Given the description of an element on the screen output the (x, y) to click on. 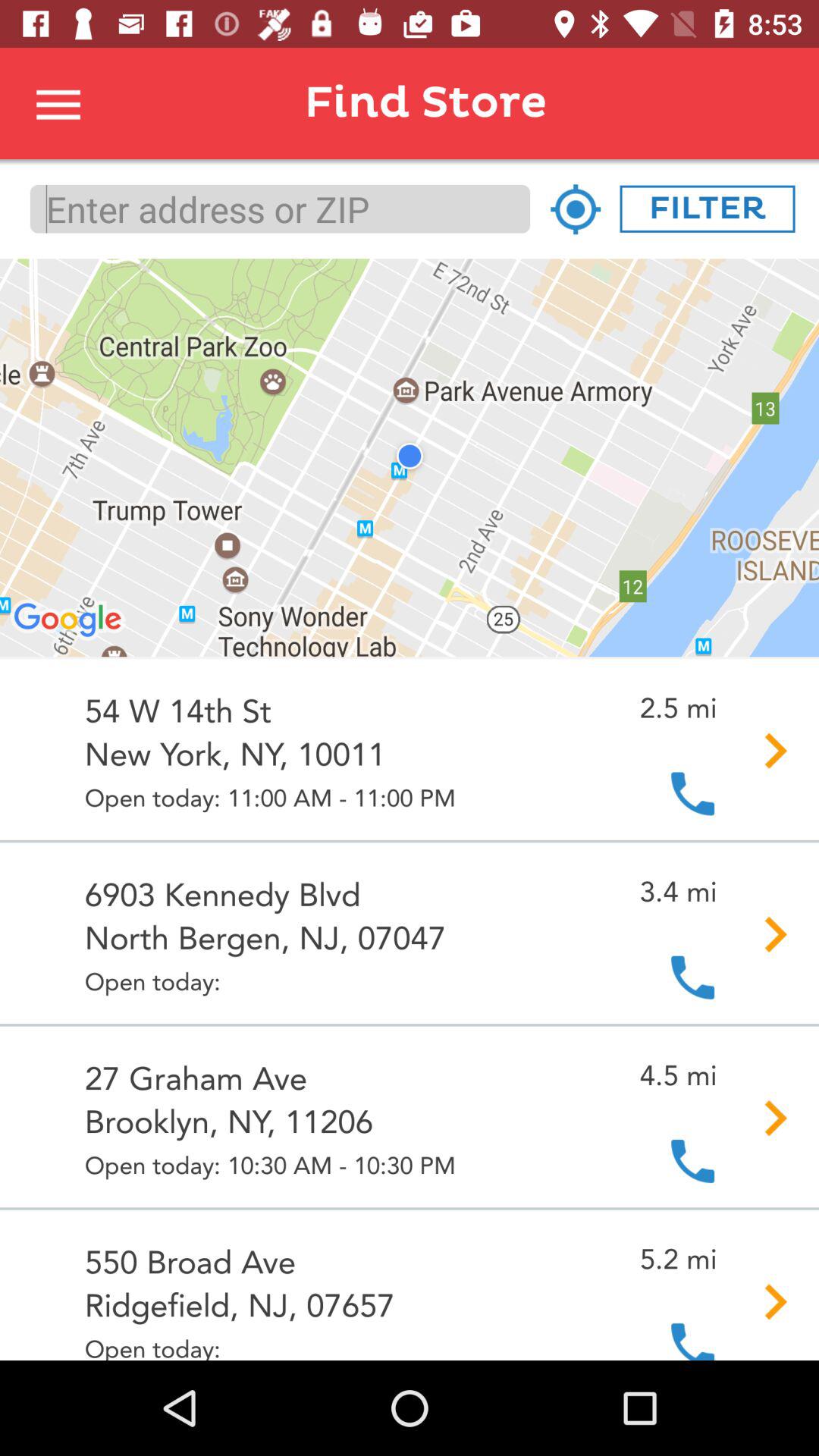
this is to select for more options or return to the menu (59, 103)
